Given the description of an element on the screen output the (x, y) to click on. 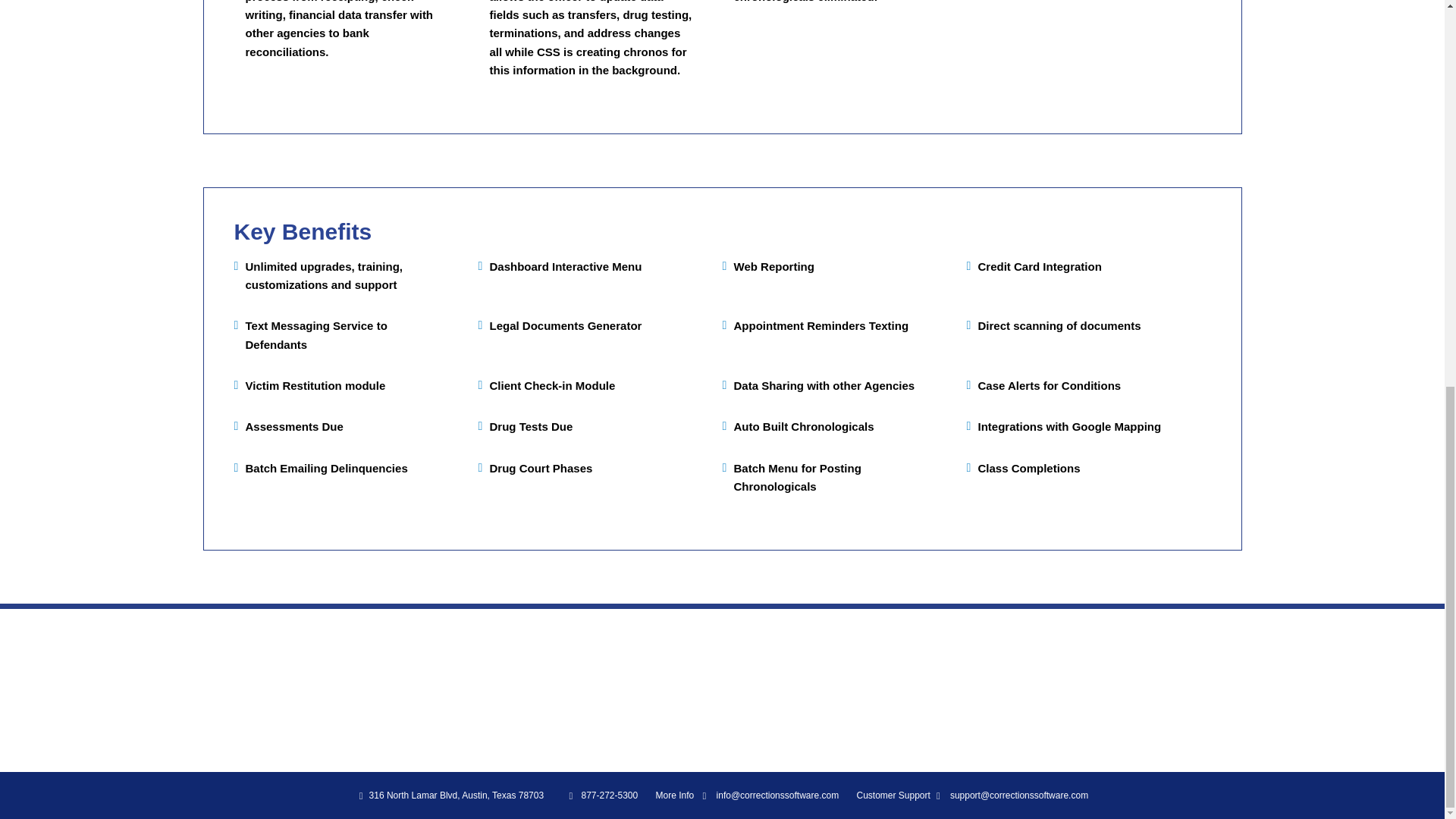
     316 North Lamar Blvd, Austin, Texas 78703 (449, 795)
877-272-5300 (608, 795)
